Given the description of an element on the screen output the (x, y) to click on. 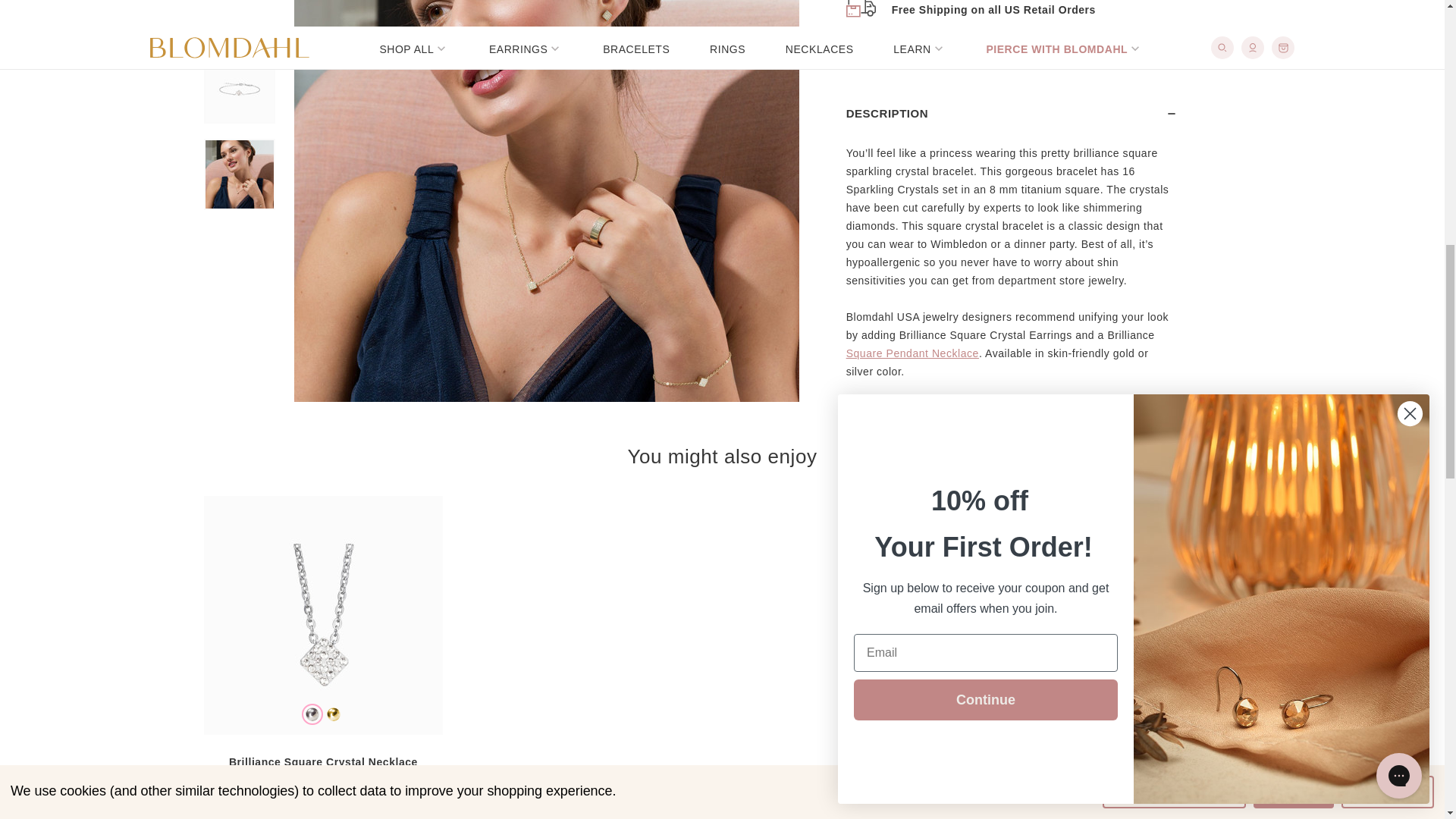
Golden Titanium (333, 714)
Silver Titanium (311, 714)
square pendant necklace (911, 159)
